Given the description of an element on the screen output the (x, y) to click on. 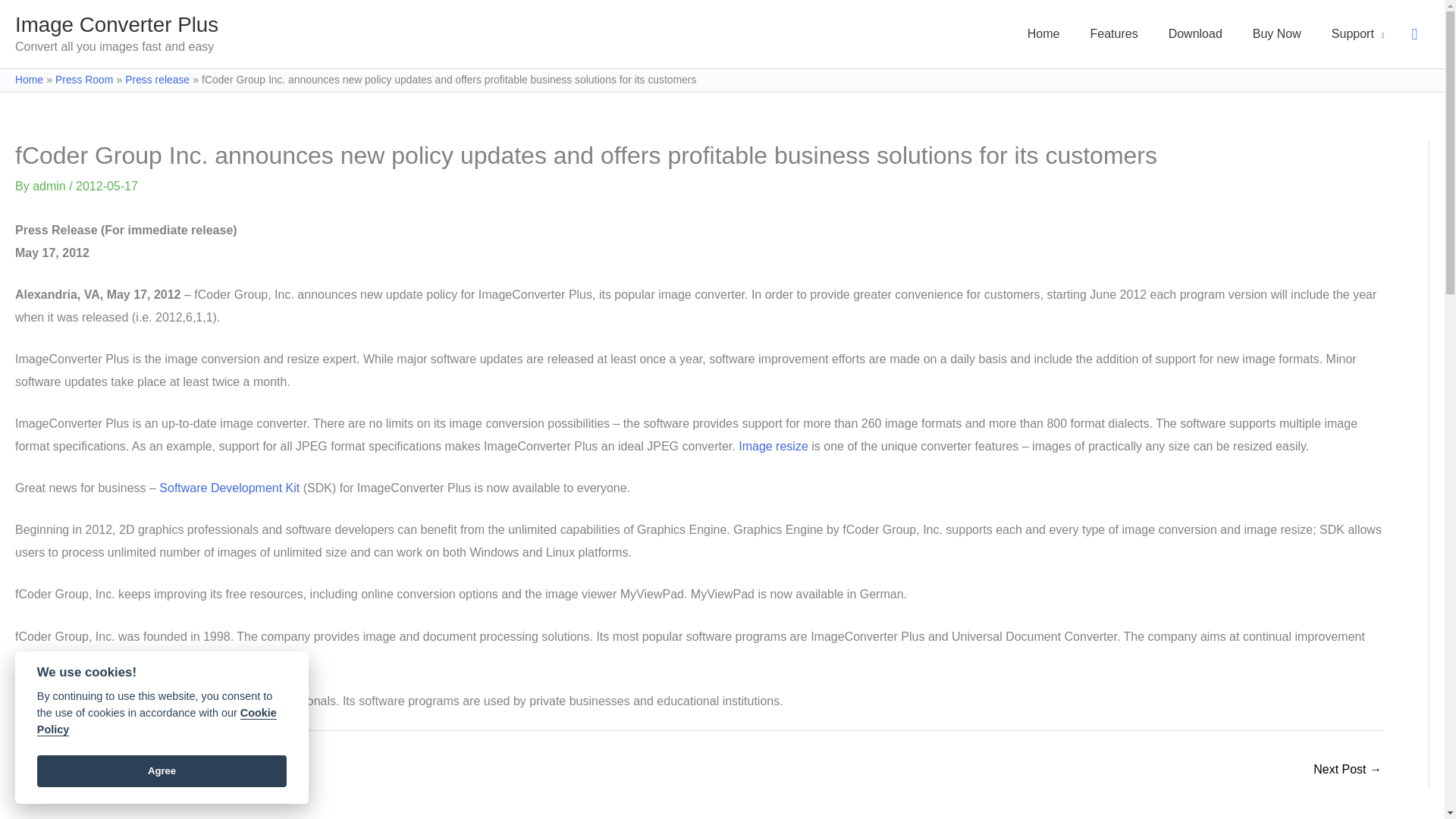
Software Development Kit (228, 487)
Home (28, 79)
Image Converter Plus Features (1114, 33)
Home (1043, 33)
Home of Image Converter Plus (1043, 33)
Download Image Converter Plus (1195, 33)
Support (1357, 33)
admin (50, 185)
Transparency and quickness (61, 770)
Purchase Image Converter Plus (1276, 33)
View all posts by admin (50, 185)
Press Room (84, 79)
Image resize (773, 445)
Image Converter Plus (116, 24)
Press release (157, 79)
